Given the description of an element on the screen output the (x, y) to click on. 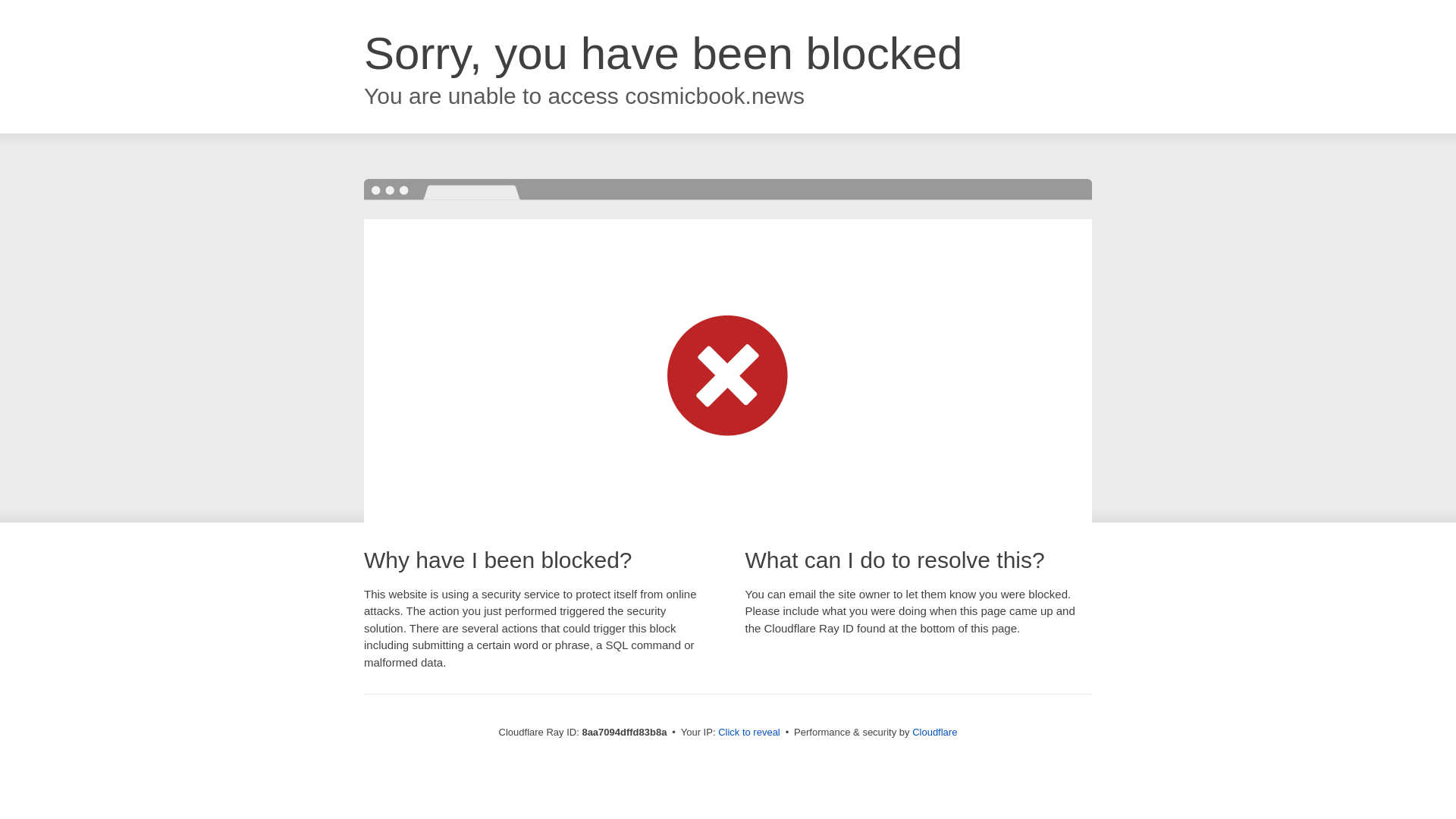
Cloudflare (934, 731)
Click to reveal (748, 732)
